Given the description of an element on the screen output the (x, y) to click on. 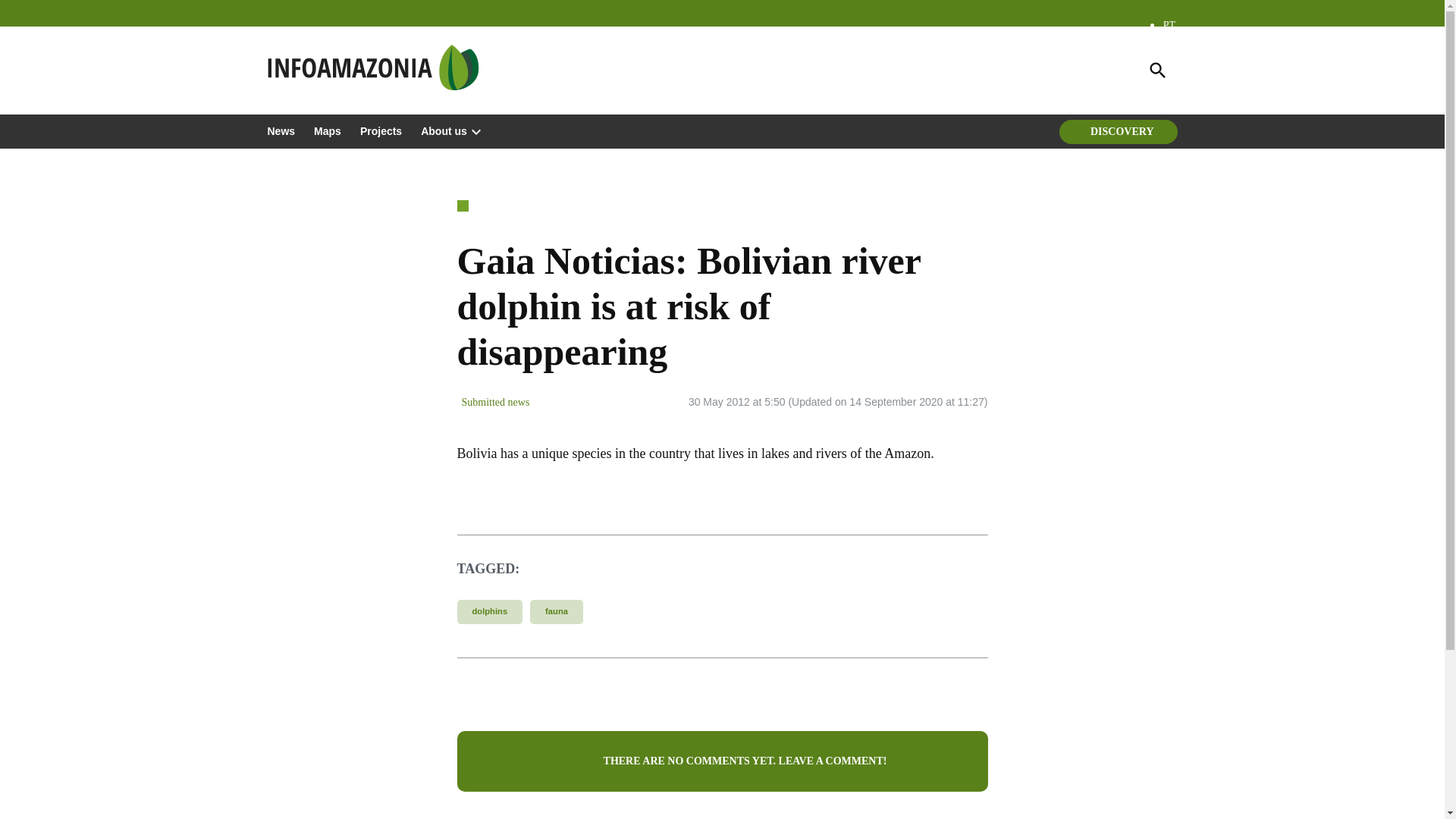
EN (1170, 69)
InfoAmazonia (539, 78)
Twitter (275, 49)
YouTube (351, 49)
PT (1168, 25)
Open Search (1156, 70)
Instagram (301, 49)
ES (1168, 47)
Facebook (325, 49)
